Given the description of an element on the screen output the (x, y) to click on. 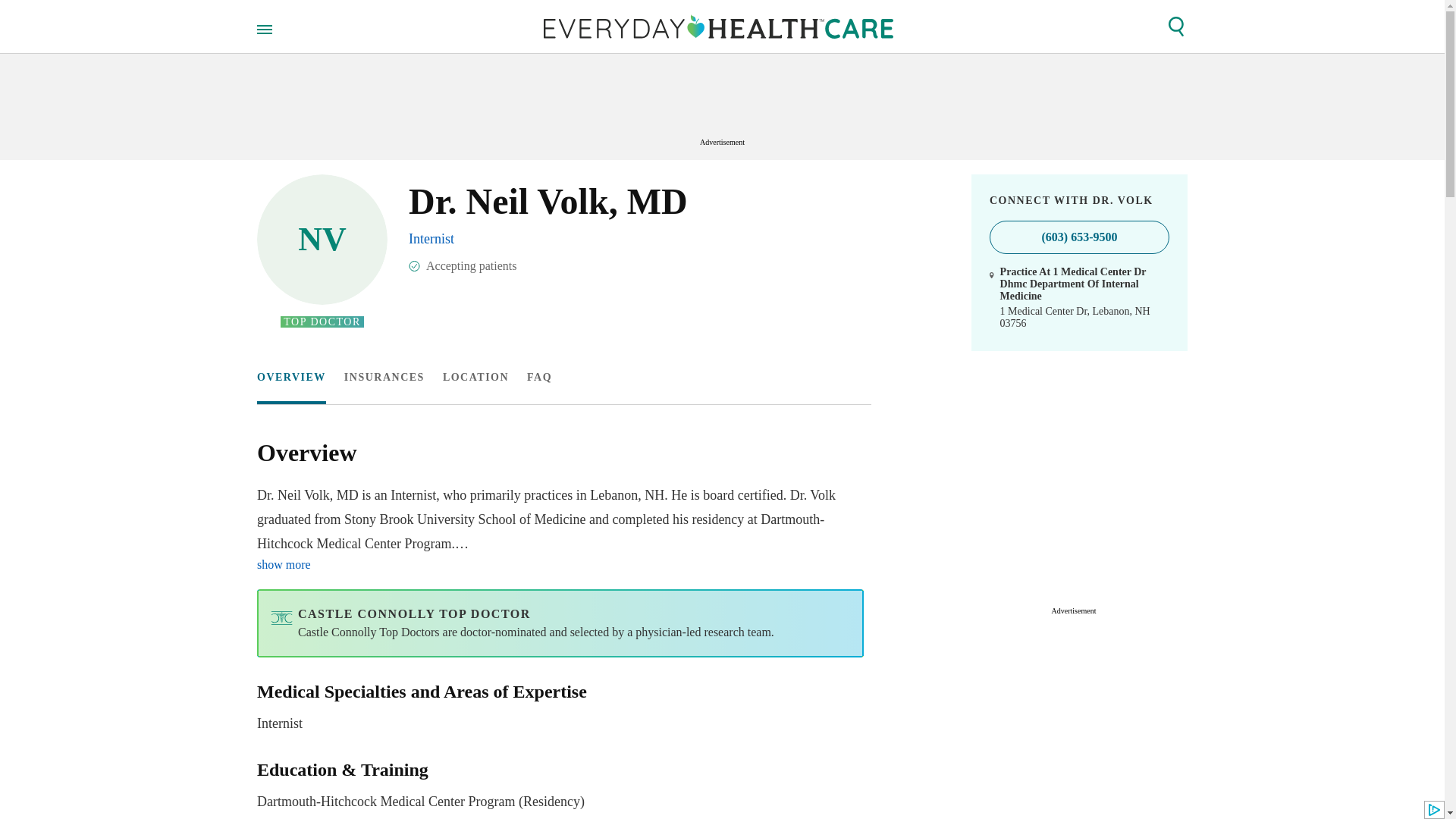
Internist (431, 238)
OVERVIEW (291, 377)
LOCATION (475, 377)
INSURANCES (560, 708)
